Given the description of an element on the screen output the (x, y) to click on. 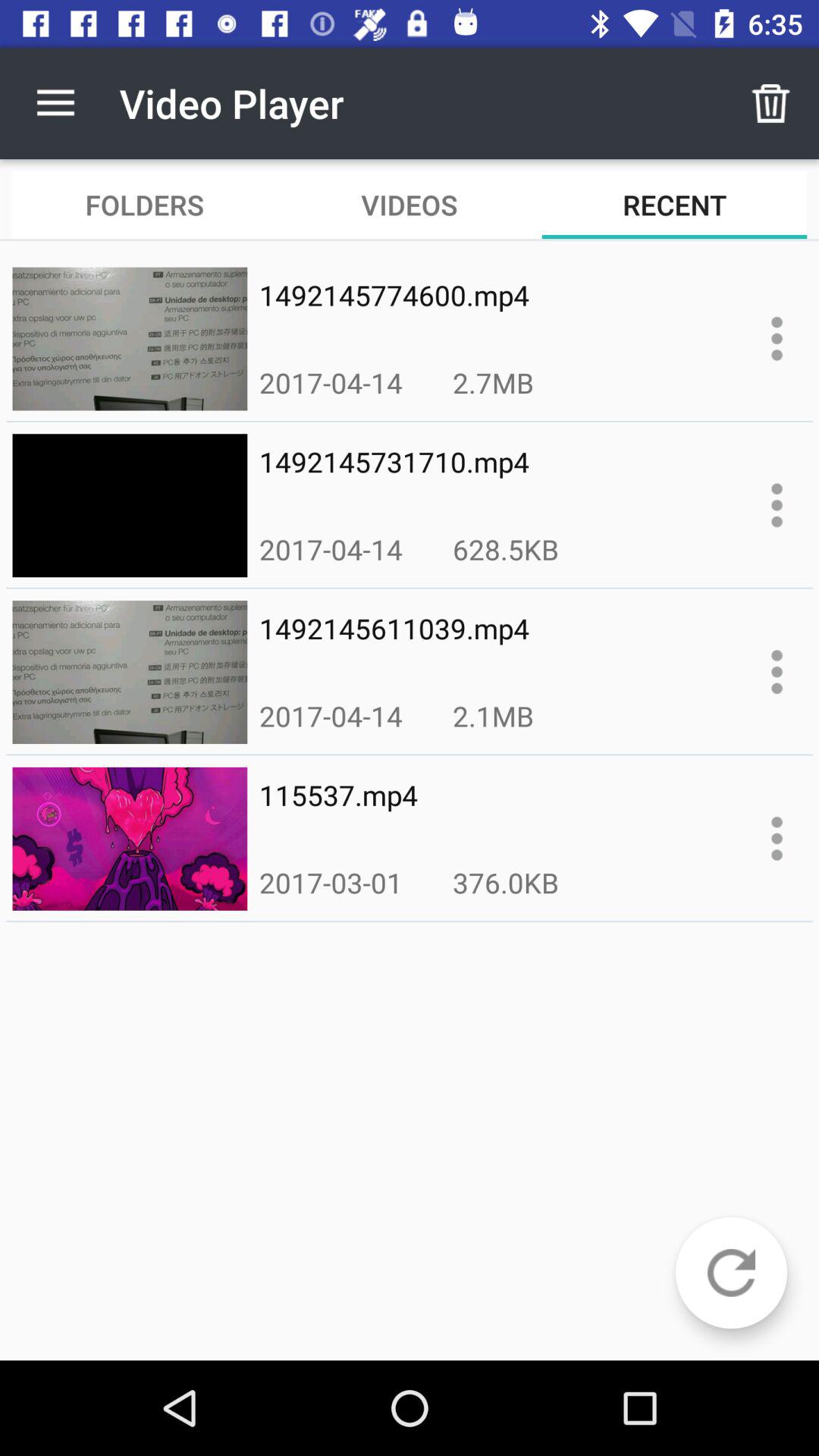
next page (731, 1272)
